Given the description of an element on the screen output the (x, y) to click on. 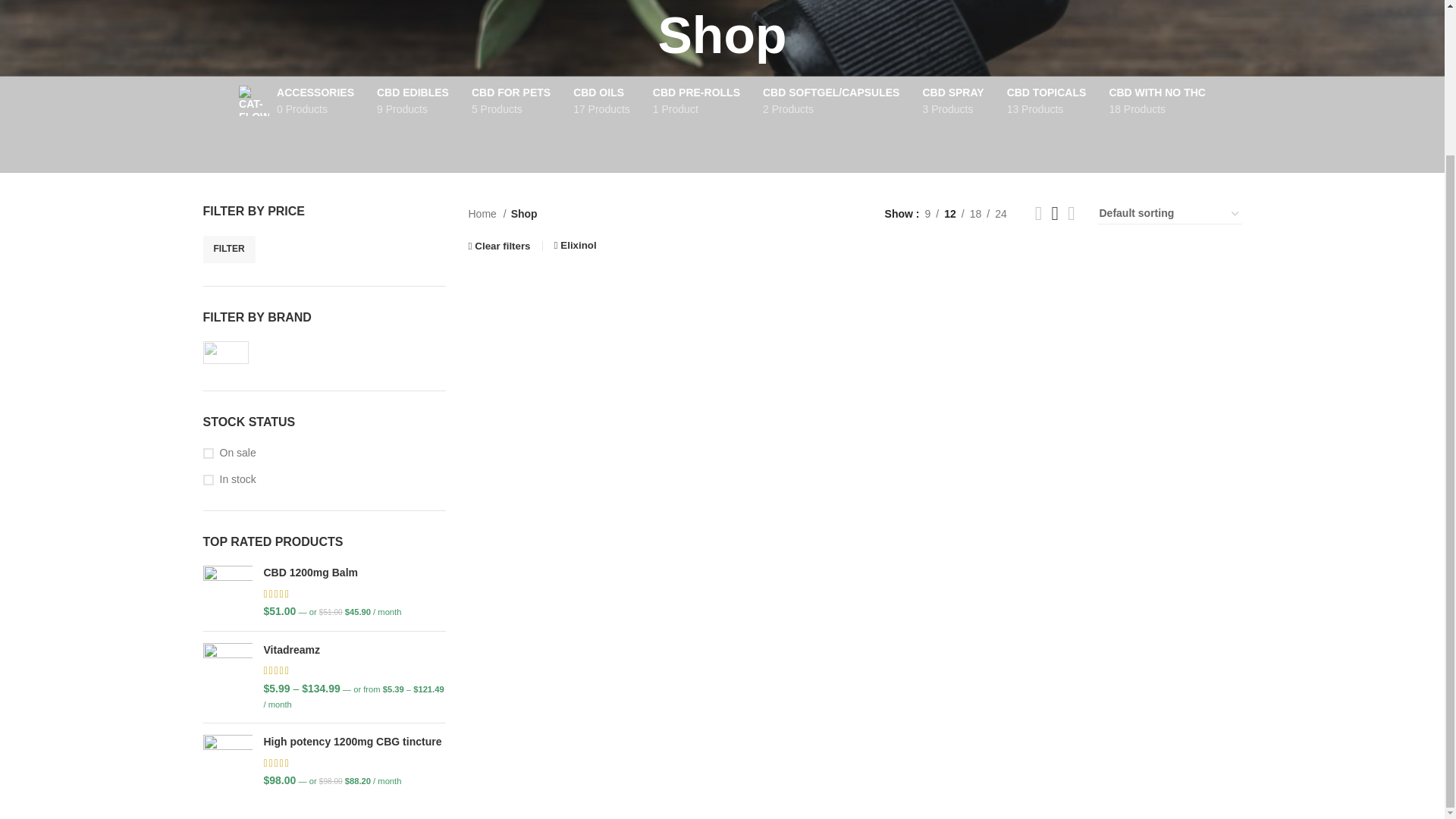
On sale (324, 453)
High potency 1200mg CBG tincture (227, 761)
CBD 1200mg Balm (227, 592)
Vitadreamz (354, 650)
cat-flower (695, 100)
In stock (510, 100)
CBD 1200mg Balm (952, 100)
FILTER (253, 100)
